Given the description of an element on the screen output the (x, y) to click on. 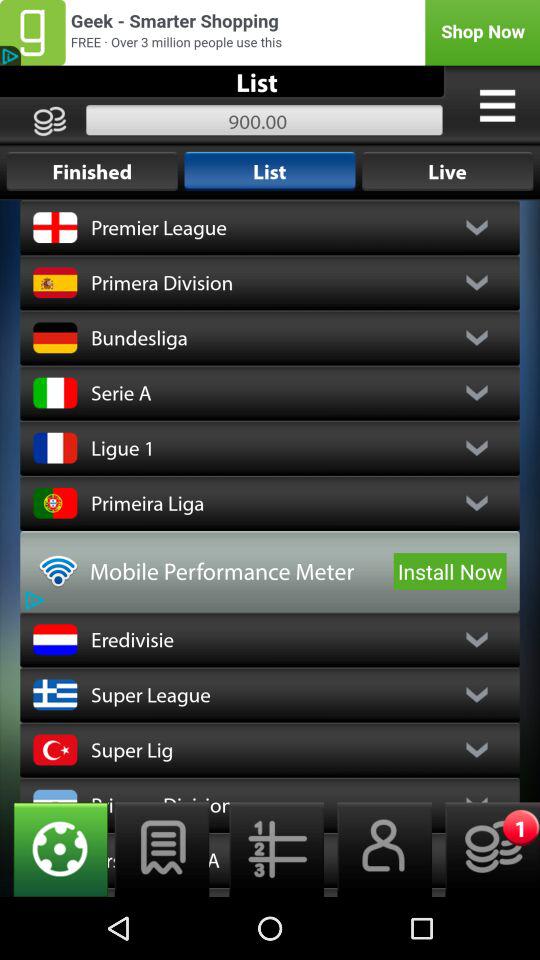
see menu (497, 105)
